Given the description of an element on the screen output the (x, y) to click on. 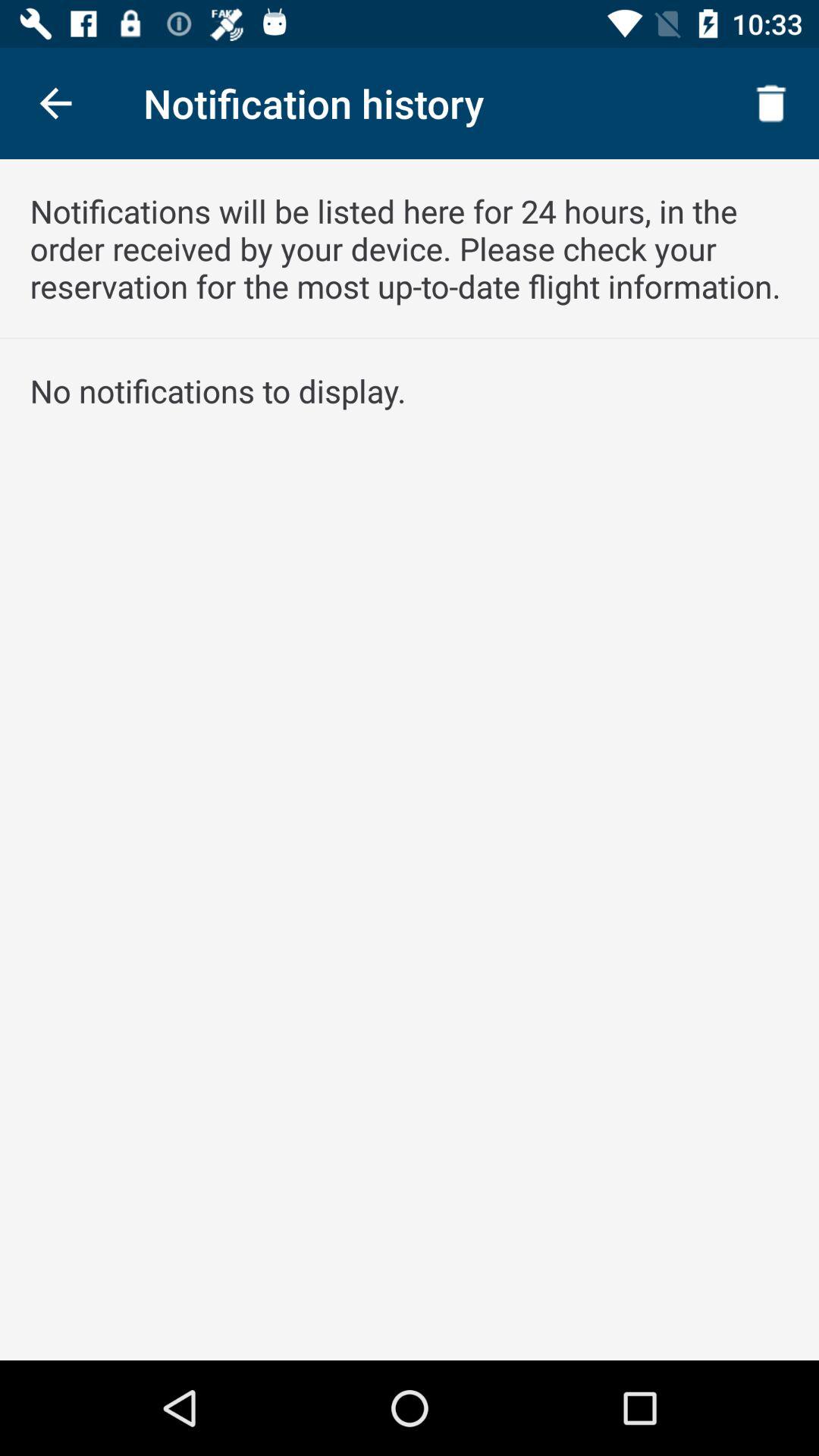
tap item next to notification history item (771, 103)
